Given the description of an element on the screen output the (x, y) to click on. 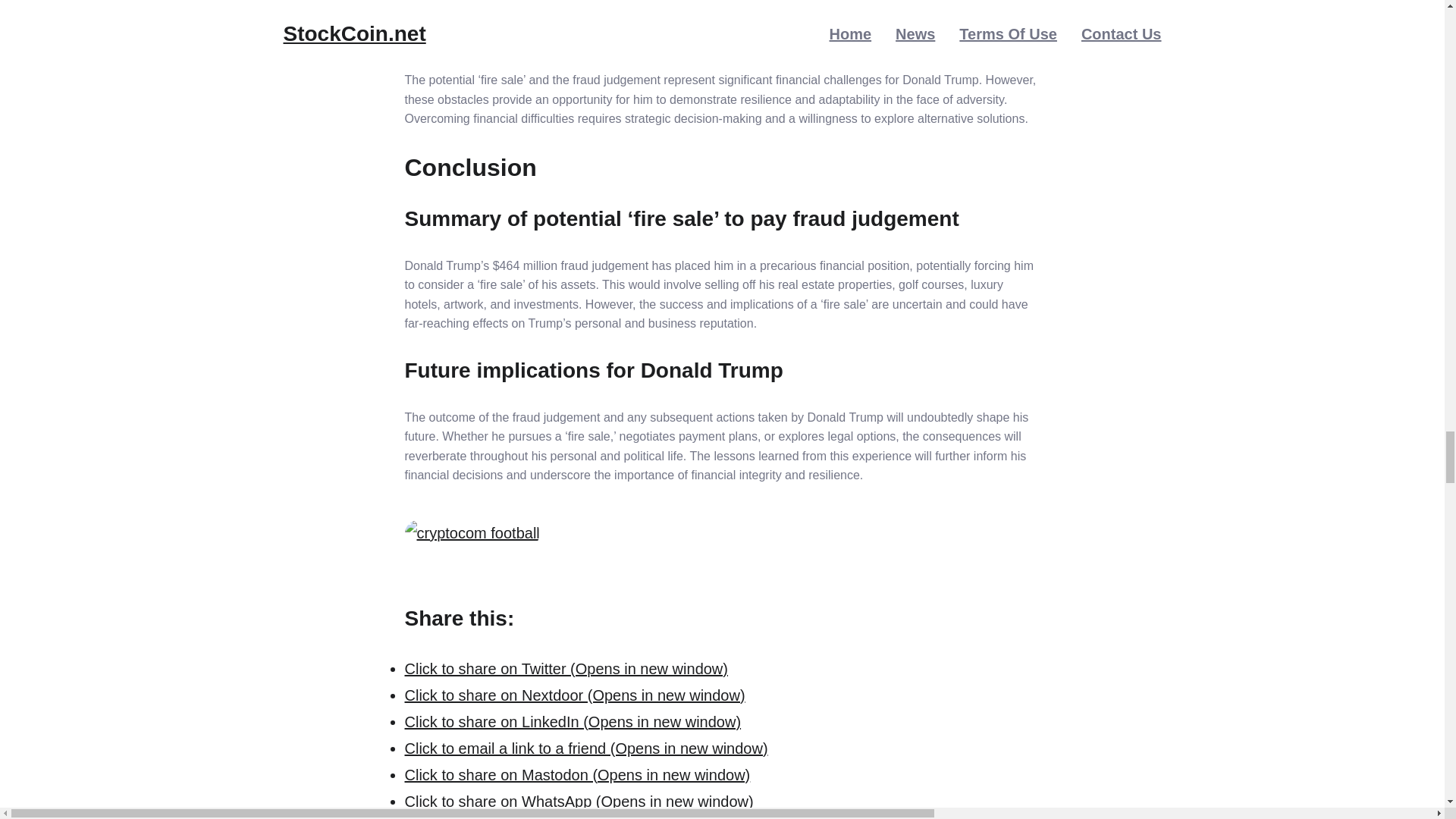
Click to share on Nextdoor (574, 695)
Click to share on LinkedIn (572, 721)
Click to share on Mastodon (577, 774)
Click to share on Twitter (566, 668)
Click to share on WhatsApp (579, 801)
Click to email a link to a friend (586, 748)
